Given the description of an element on the screen output the (x, y) to click on. 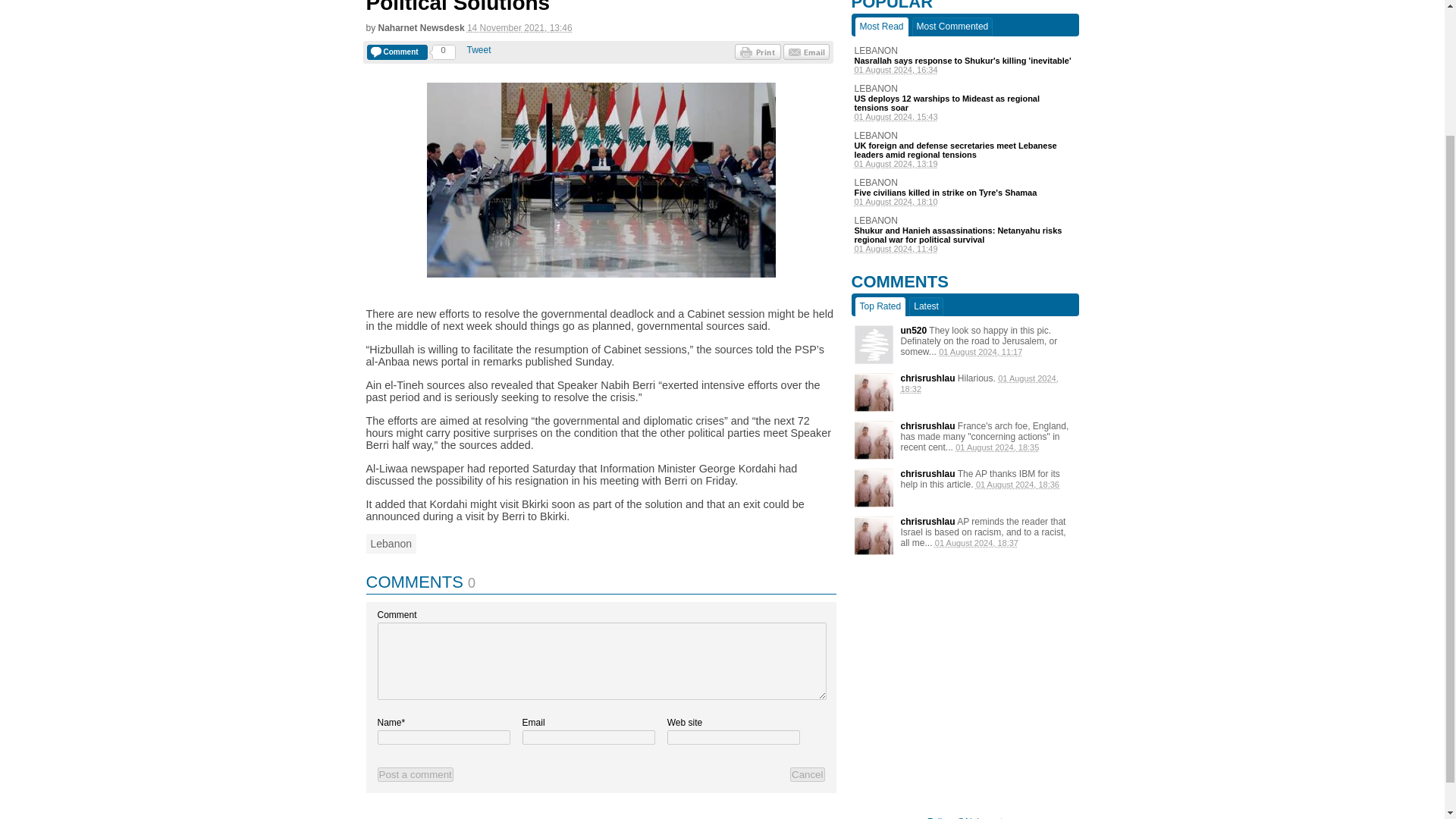
Tweet (479, 50)
Comment (397, 52)
2024-08-01T08:49:04Z (964, 248)
2024-08-01T15:35:19Z (997, 447)
2024-08-01T08:17:42Z (980, 351)
LEBANON (964, 135)
Post a comment (414, 774)
Five civilians killed in strike on Tyre's Shamaa (964, 192)
2021-11-14T11:46:25Z (519, 27)
LEBANON (964, 220)
2024-08-01T15:32:04Z (979, 383)
2024-08-01T10:19:22Z (964, 163)
Post a comment (414, 774)
